Given the description of an element on the screen output the (x, y) to click on. 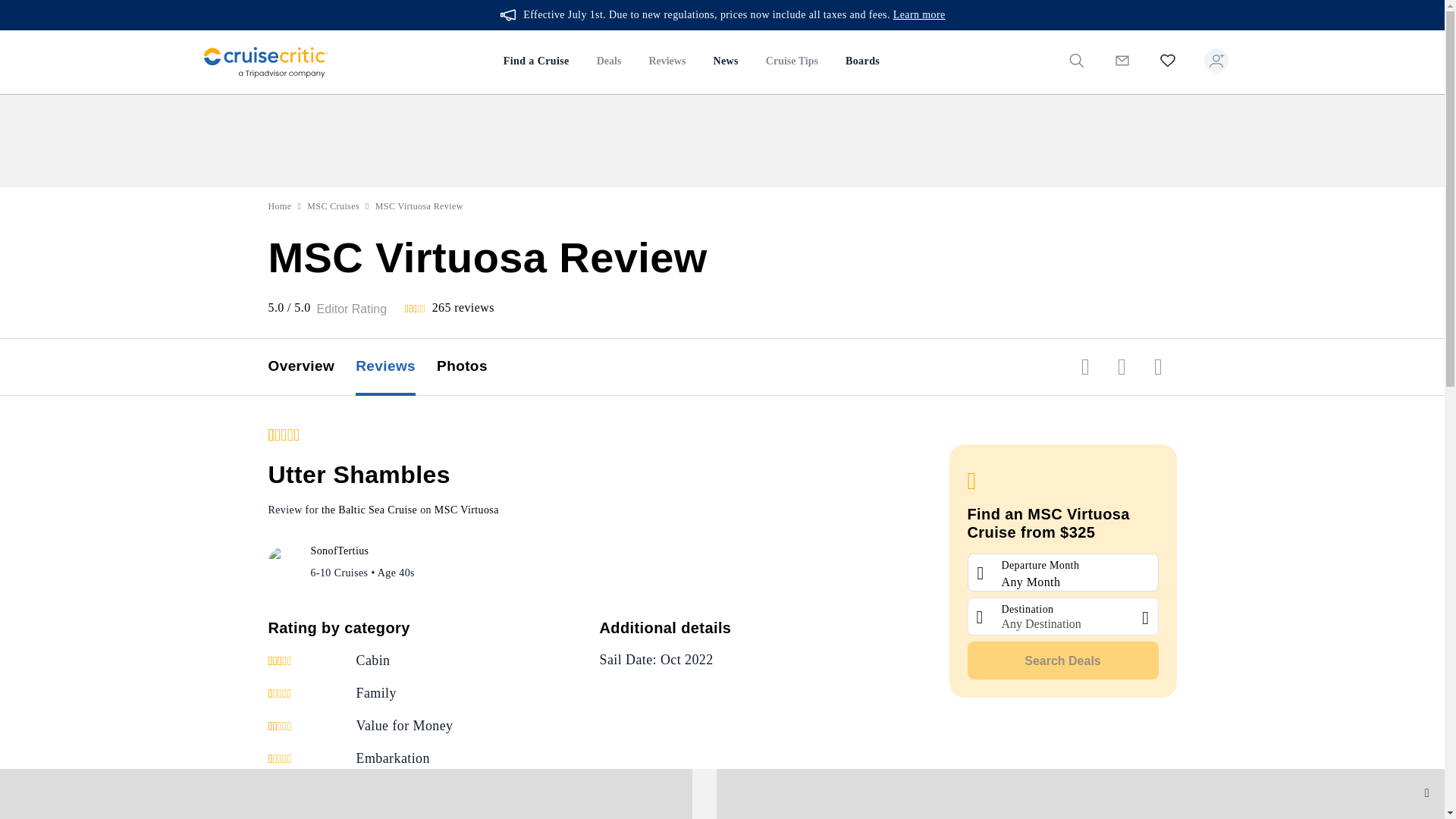
Search Deals (1063, 660)
Photos (472, 366)
Reviews (666, 62)
MSC Virtuosa Review (419, 205)
Editor Rating (352, 309)
MSC Virtuosa (466, 509)
265 reviews (463, 307)
Learn more (918, 15)
the Baltic Sea Cruise (368, 509)
Find a Cruise (536, 62)
